Given the description of an element on the screen output the (x, y) to click on. 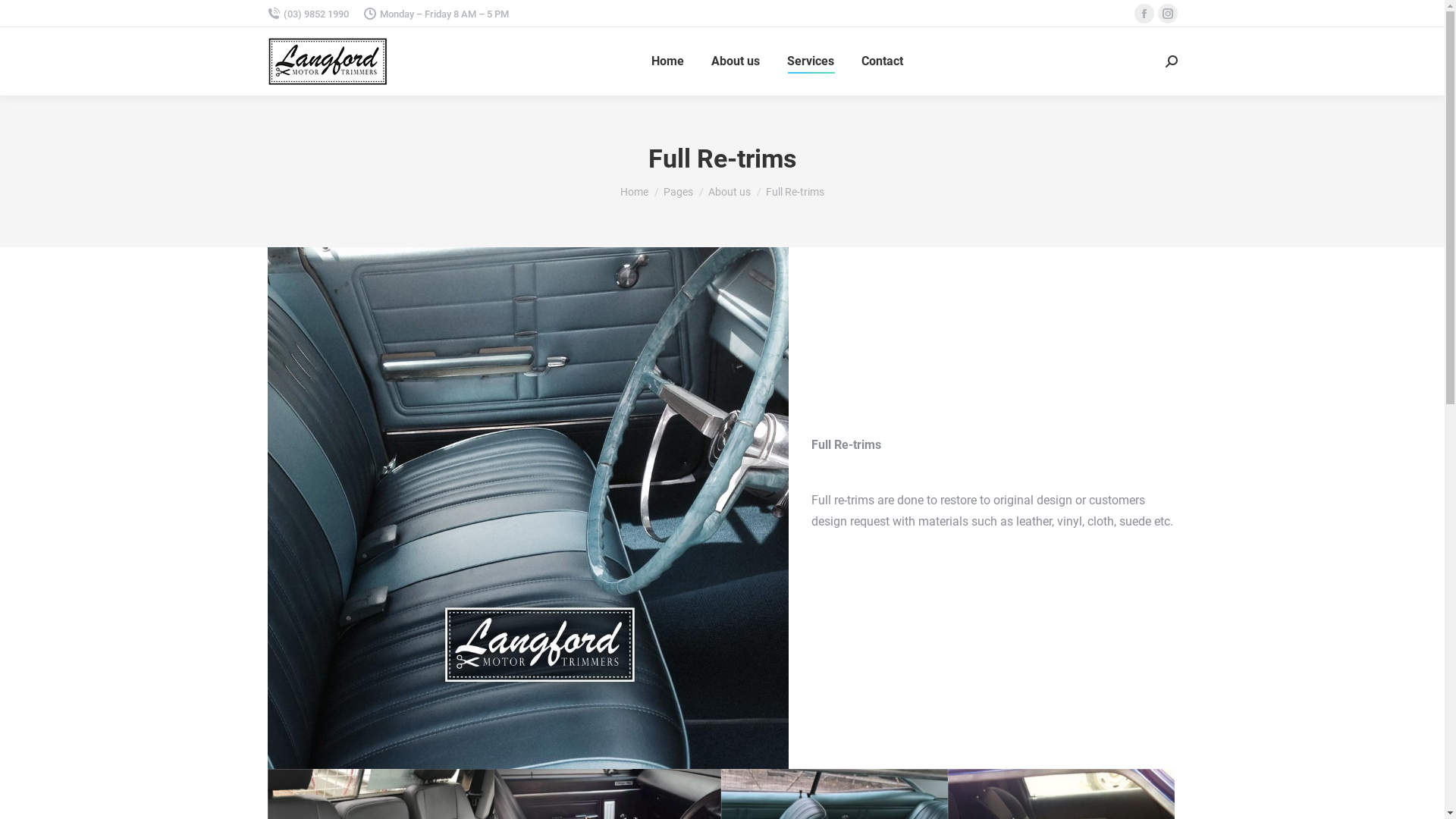
About us Element type: text (729, 191)
About us Element type: text (735, 60)
Go! Element type: text (23, 16)
Home Element type: text (666, 60)
Facebook Element type: text (1144, 13)
Home Element type: text (634, 191)
Pages Element type: text (678, 191)
Services Element type: text (810, 60)
Contact Element type: text (882, 60)
Instagram Element type: text (1166, 13)
